Given the description of an element on the screen output the (x, y) to click on. 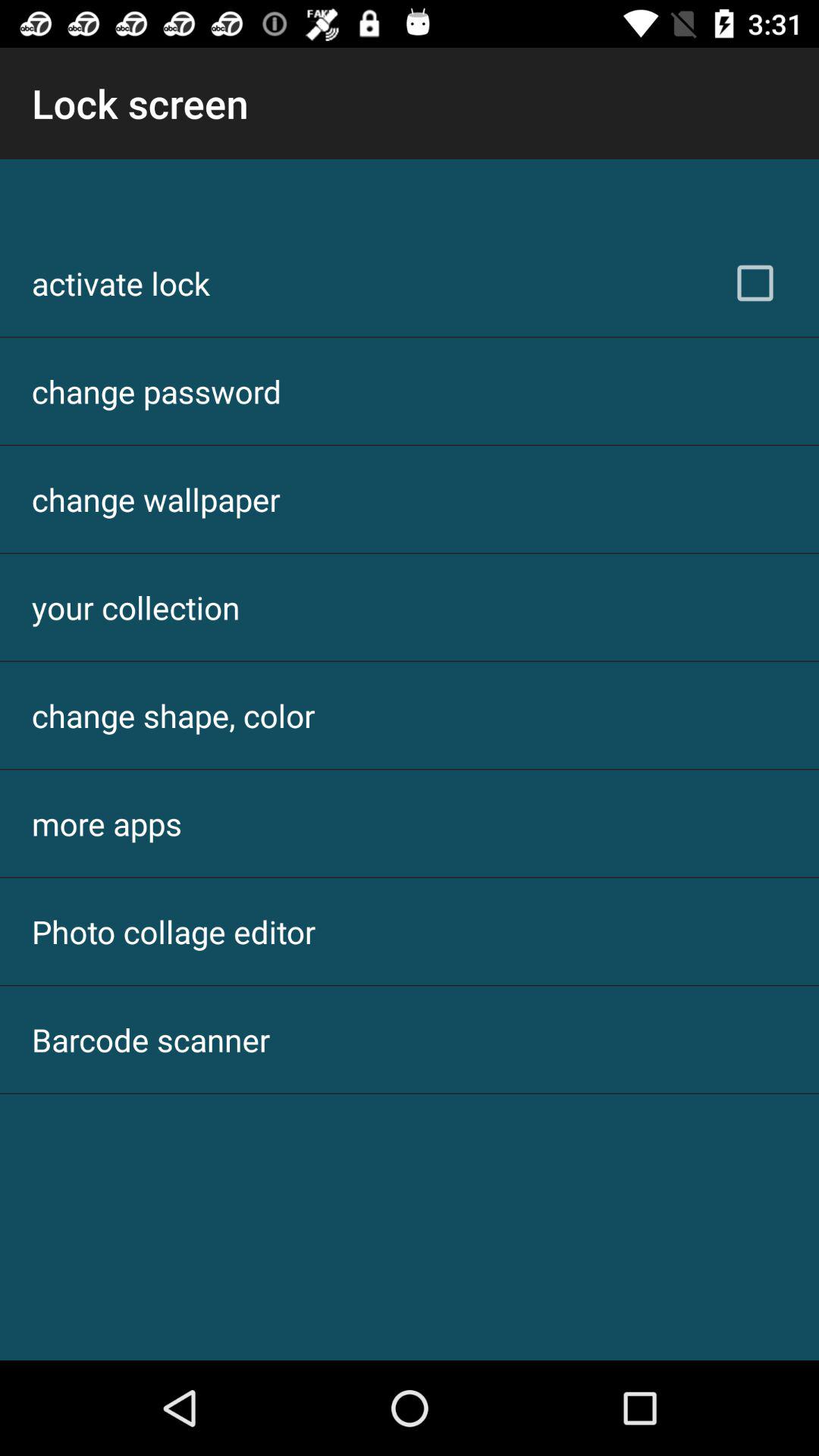
choose app below the your collection (173, 715)
